Given the description of an element on the screen output the (x, y) to click on. 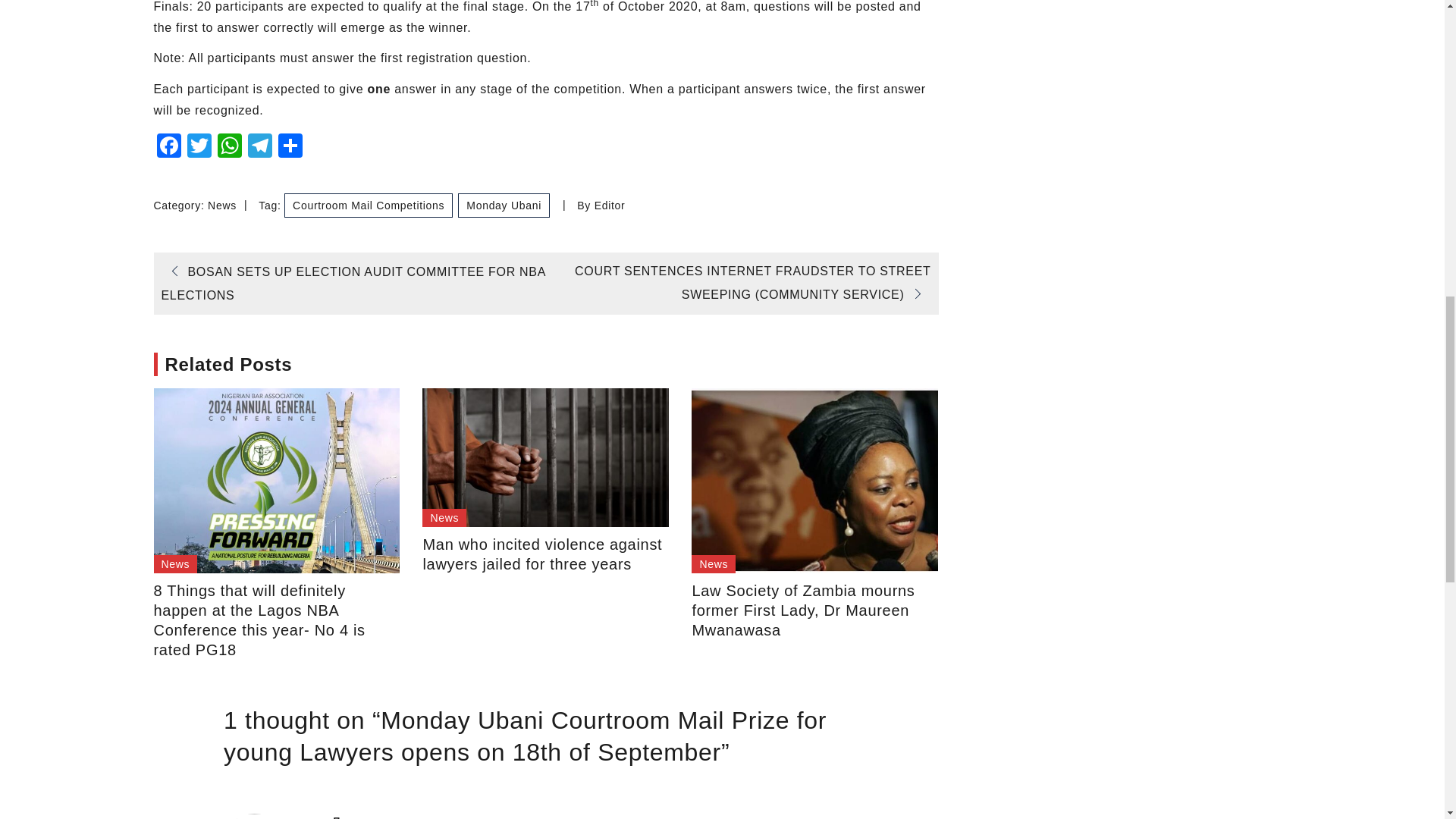
Twitter (198, 147)
Facebook (167, 147)
WhatsApp (229, 147)
WhatsApp (229, 147)
Twitter (198, 147)
Telegram (259, 147)
Facebook (167, 147)
Telegram (259, 147)
